Given the description of an element on the screen output the (x, y) to click on. 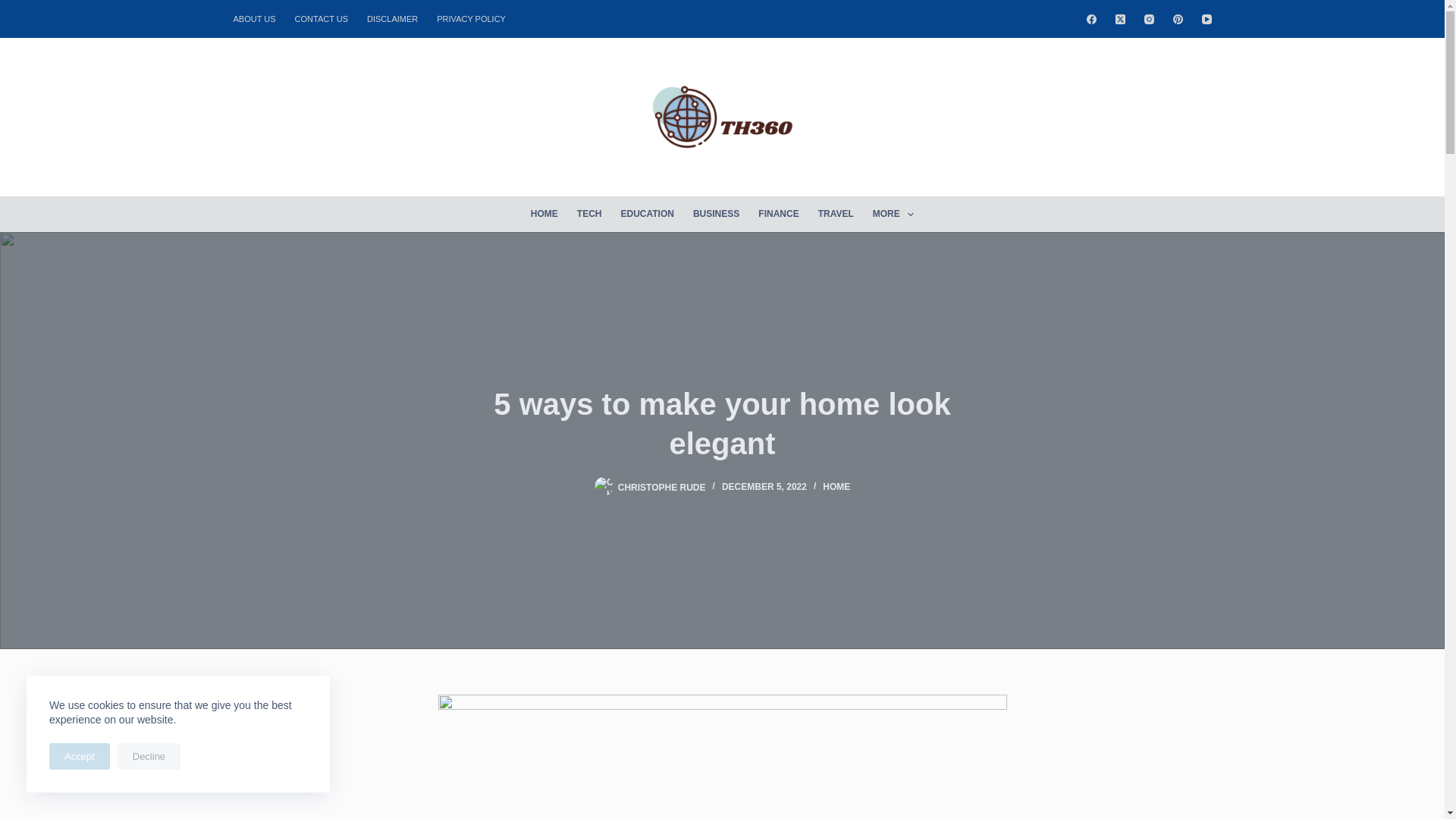
ABOUT US (258, 18)
CONTACT US (321, 18)
TRAVEL (835, 213)
HOME (544, 213)
MORE (893, 213)
5 ways to make your home look elegant (722, 423)
TECH (589, 213)
EDUCATION (646, 213)
Posts by Christophe Rude (661, 486)
FINANCE (778, 213)
